Given the description of an element on the screen output the (x, y) to click on. 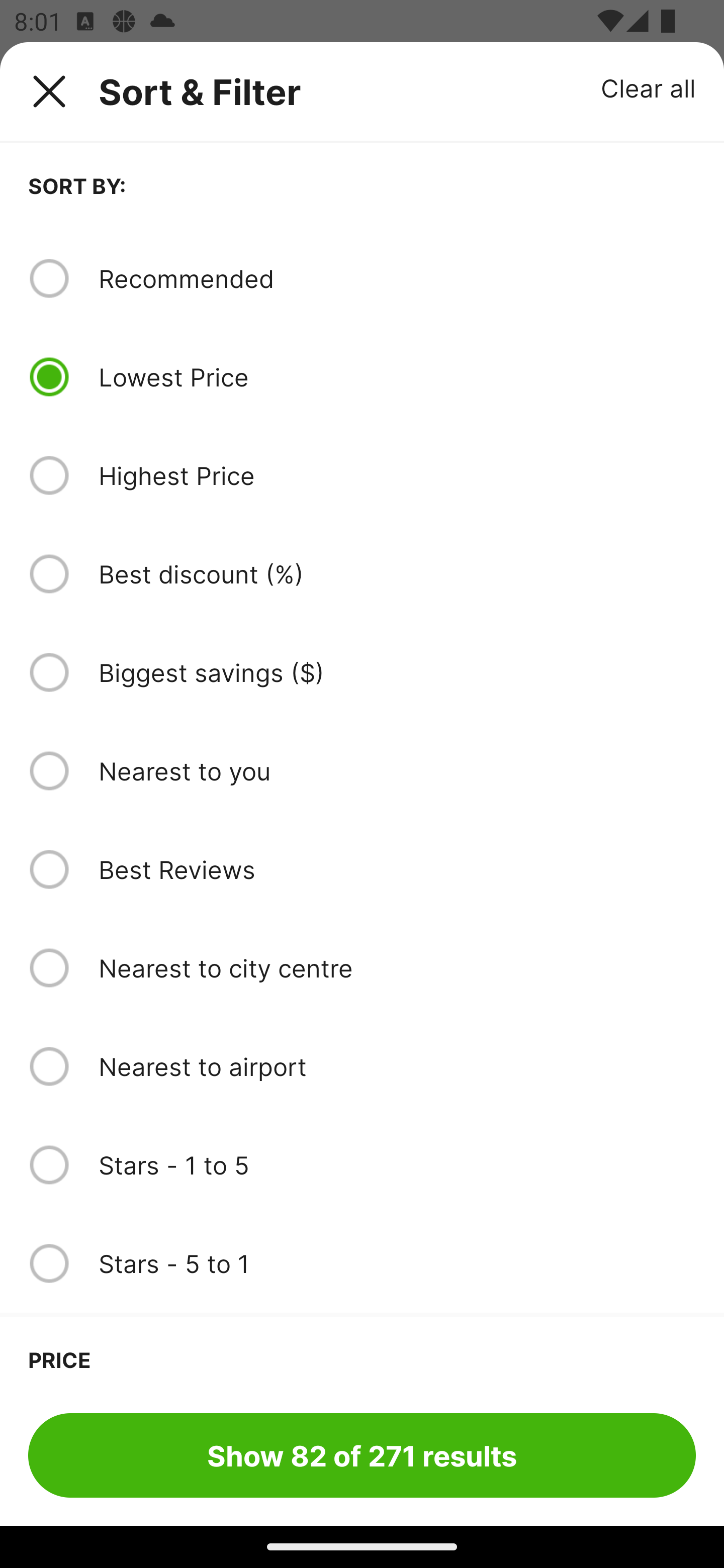
Clear all (648, 87)
Recommended  (396, 278)
Lowest Price (396, 377)
Highest Price (396, 474)
Best discount (%) (396, 573)
Biggest savings ($) (396, 672)
Nearest to you (396, 770)
Best Reviews (396, 869)
Nearest to city centre (396, 968)
Nearest to airport (396, 1065)
Stars - 1 to 5 (396, 1164)
Stars - 5 to 1 (396, 1263)
Show 82 of 271 results (361, 1454)
